Given the description of an element on the screen output the (x, y) to click on. 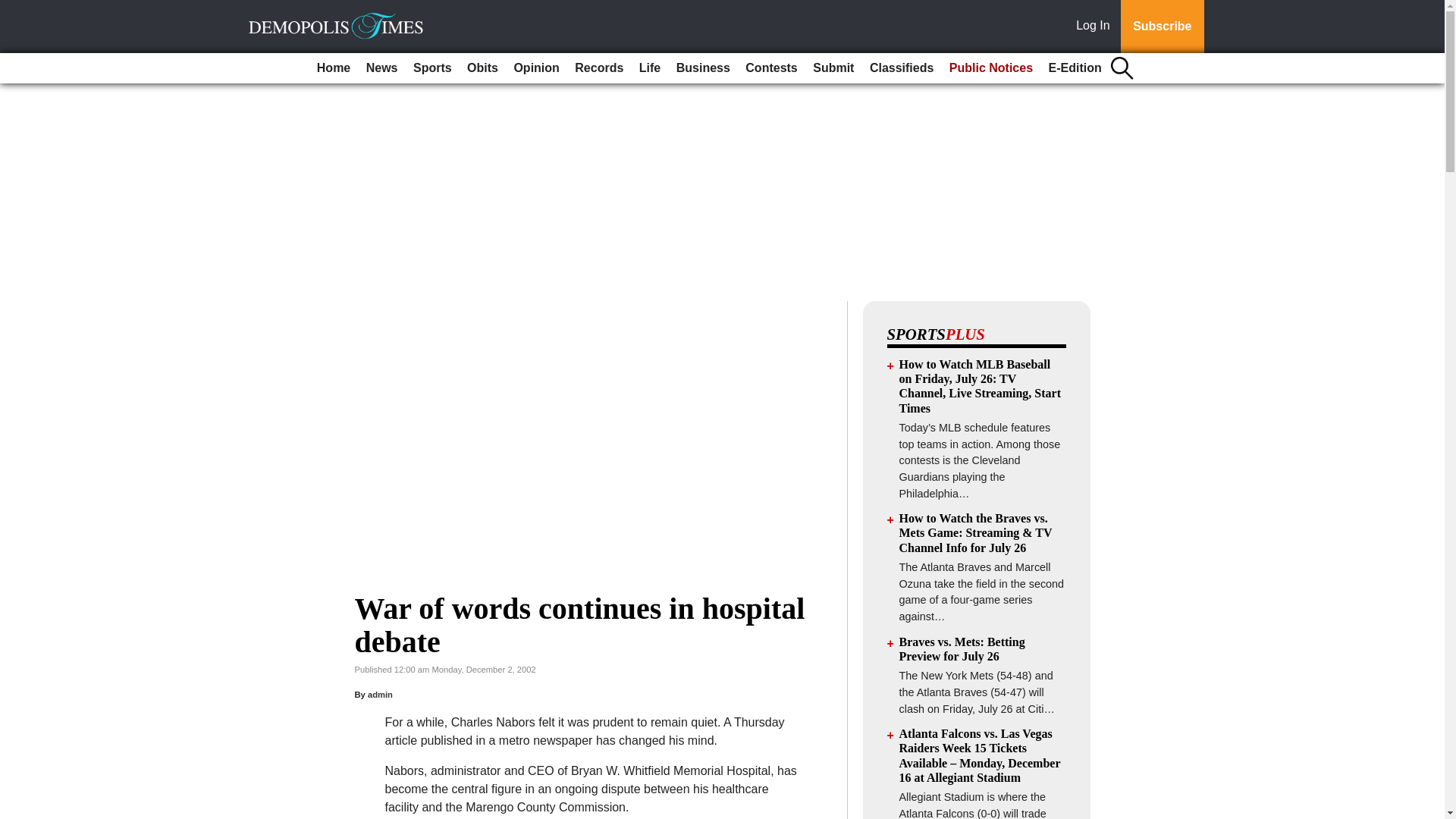
Home (333, 68)
Braves vs. Mets: Betting Preview for July 26 (962, 648)
Obits (482, 68)
E-Edition (1075, 68)
Classifieds (901, 68)
Life (649, 68)
Log In (1095, 26)
Submit (833, 68)
Sports (432, 68)
Go (13, 9)
Opinion (535, 68)
Contests (771, 68)
Subscribe (1162, 26)
News (381, 68)
